Given the description of an element on the screen output the (x, y) to click on. 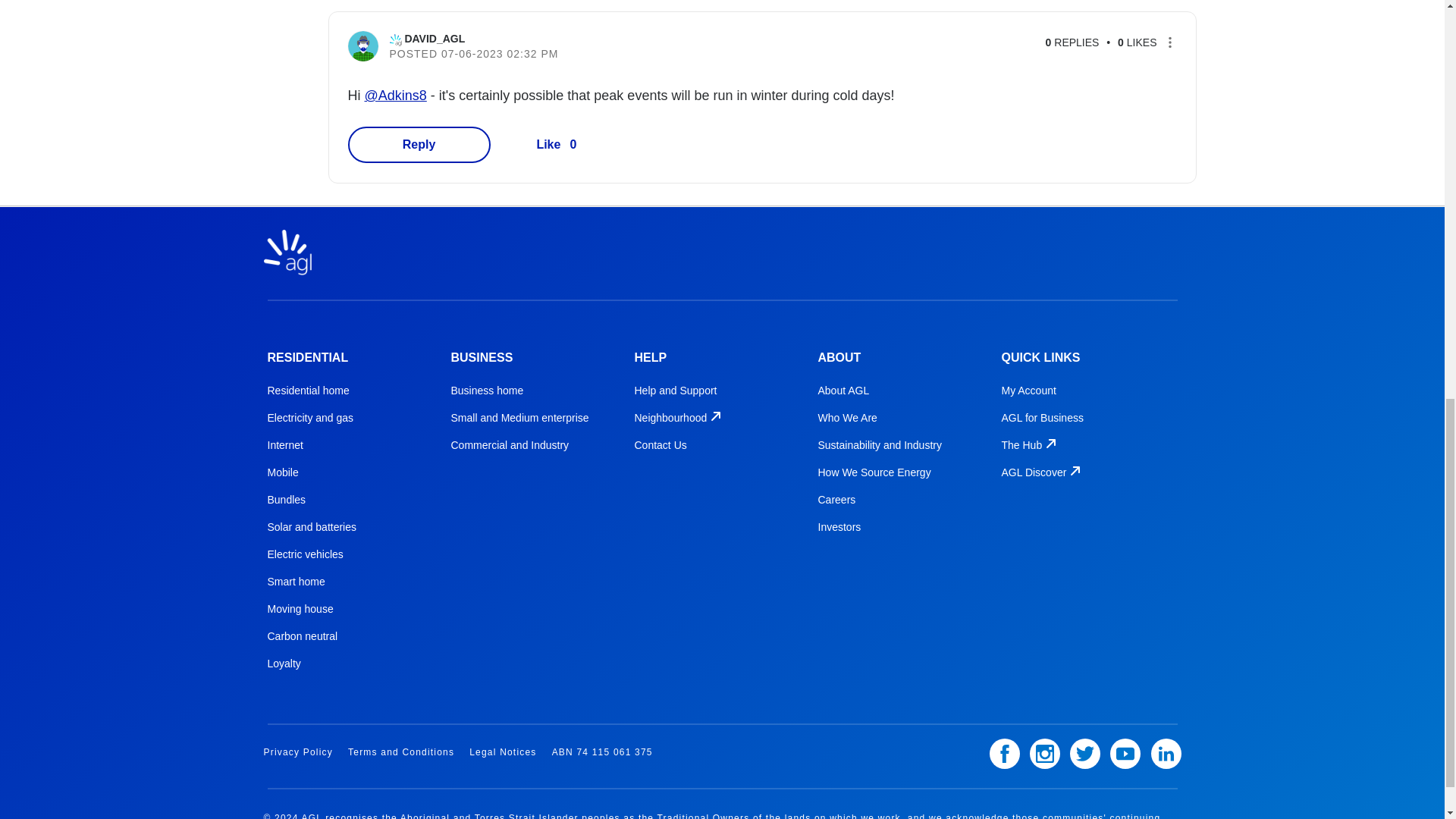
AGL Community Manager (395, 39)
Posted on (576, 53)
Show option menu (1169, 42)
Click here to give likes to this post. (547, 144)
Peak Energy Rewards (330, 1)
How do I know my target? (1056, 1)
